Given the description of an element on the screen output the (x, y) to click on. 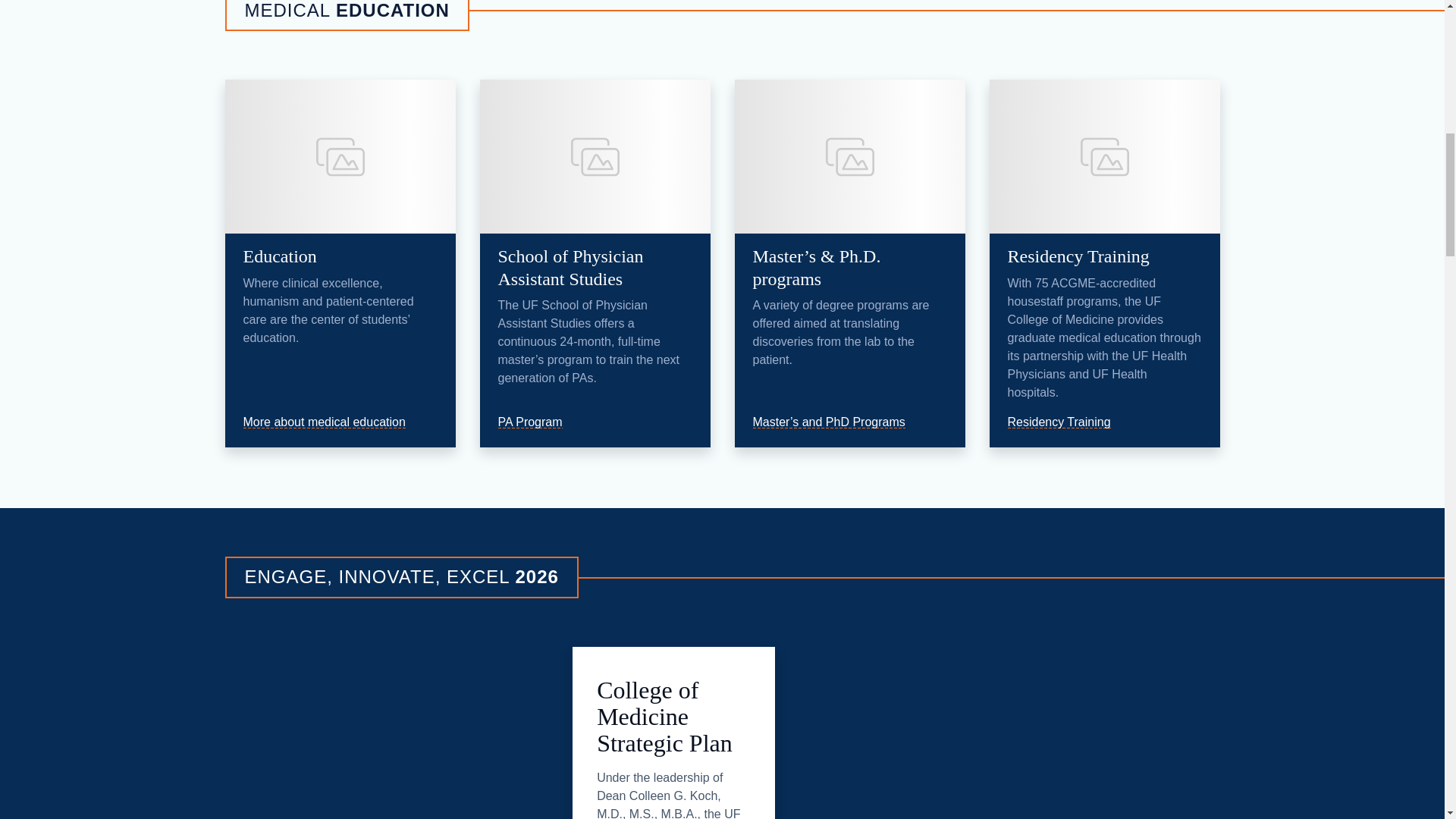
Residency Training (1066, 421)
Master's and PhD Programs (836, 421)
PA Program (536, 421)
More about medical education (331, 421)
